Given the description of an element on the screen output the (x, y) to click on. 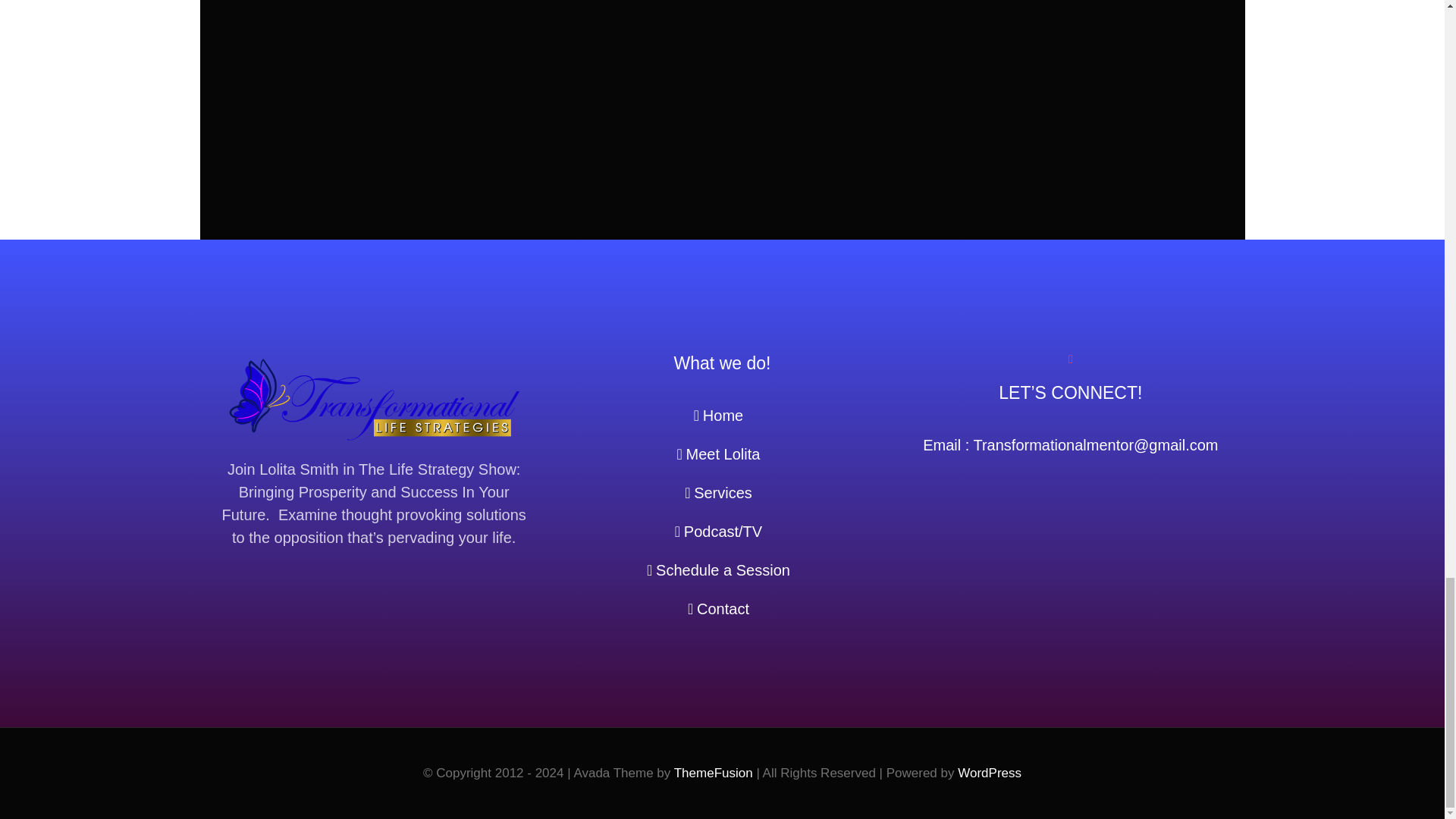
Lolita-Smith-200-Logo-gold-lettering-all-font-layers (373, 399)
